Given the description of an element on the screen output the (x, y) to click on. 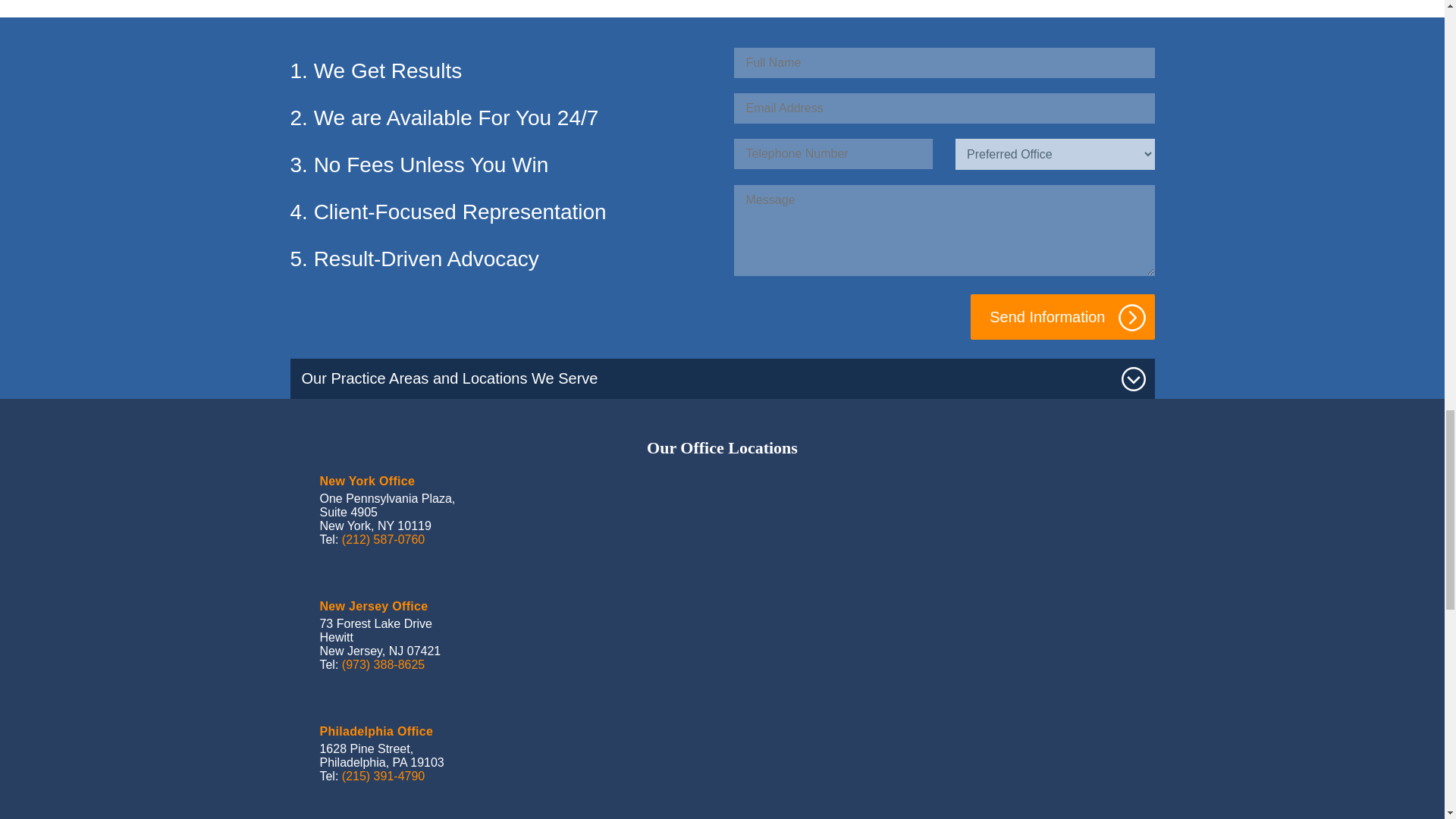
Share via Instagram (542, 4)
Share via twitter (471, 4)
Copy URL (613, 4)
linkedin (508, 6)
Send Information (1062, 316)
Share via facebook (436, 4)
Share via email (577, 4)
Share via linkedin (508, 4)
E-Mail Share (577, 6)
